Given the description of an element on the screen output the (x, y) to click on. 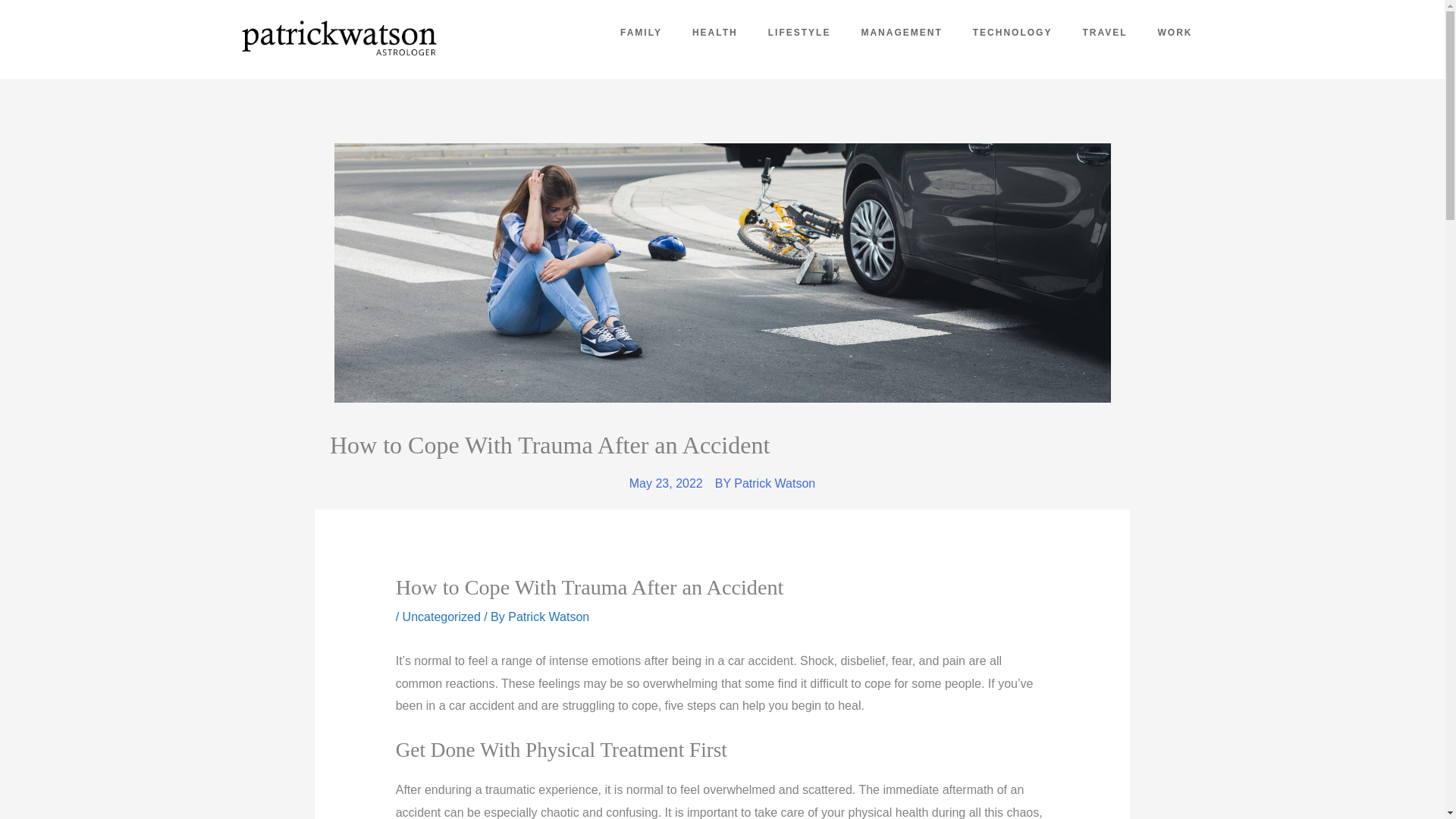
View all posts by Patrick Watson (548, 616)
TRAVEL (1104, 32)
BY Patrick Watson (764, 483)
LIFESTYLE (813, 32)
Patrick Watson (548, 616)
TECHNOLOGY (1013, 32)
Uncategorized (441, 616)
HEALTH (741, 31)
FAMILY (700, 30)
May 23, 2022 (665, 483)
